Given the description of an element on the screen output the (x, y) to click on. 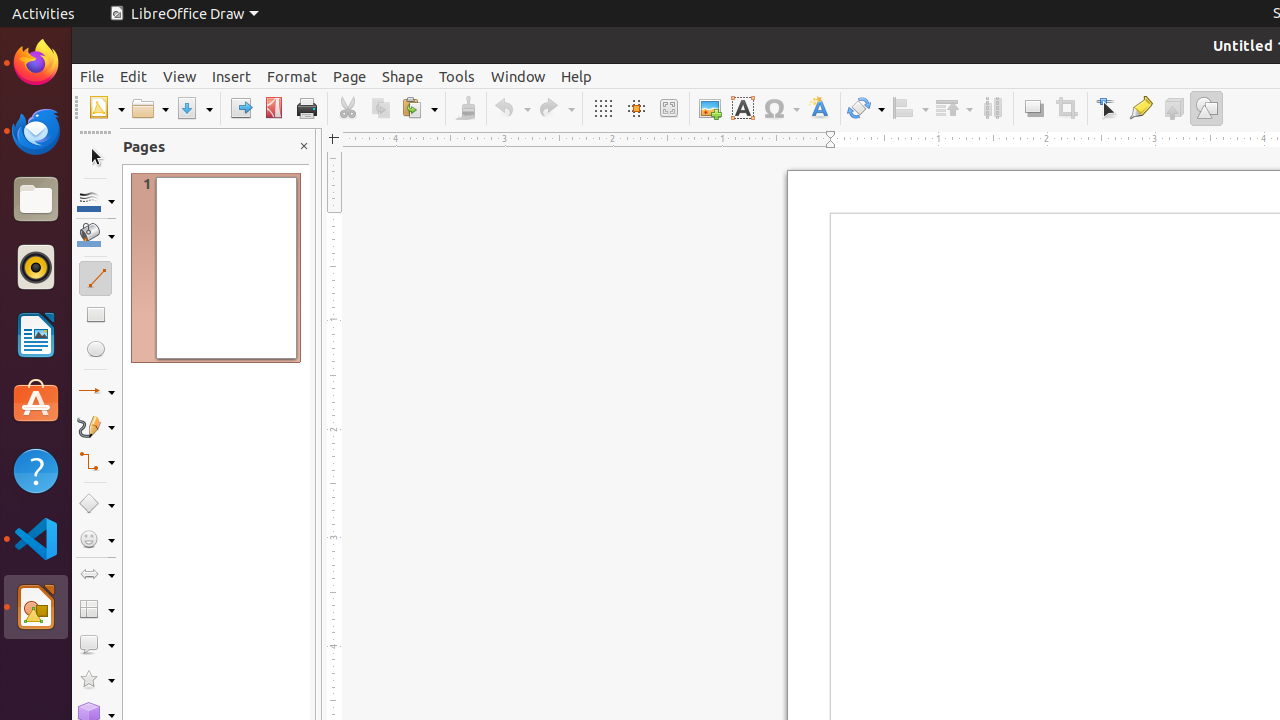
Thunderbird Mail Element type: push-button (36, 131)
Clone Element type: push-button (465, 108)
Draw Functions Element type: toggle-button (1206, 108)
Distribution Element type: push-button (992, 108)
Fontwork Style Element type: toggle-button (819, 108)
